Given the description of an element on the screen output the (x, y) to click on. 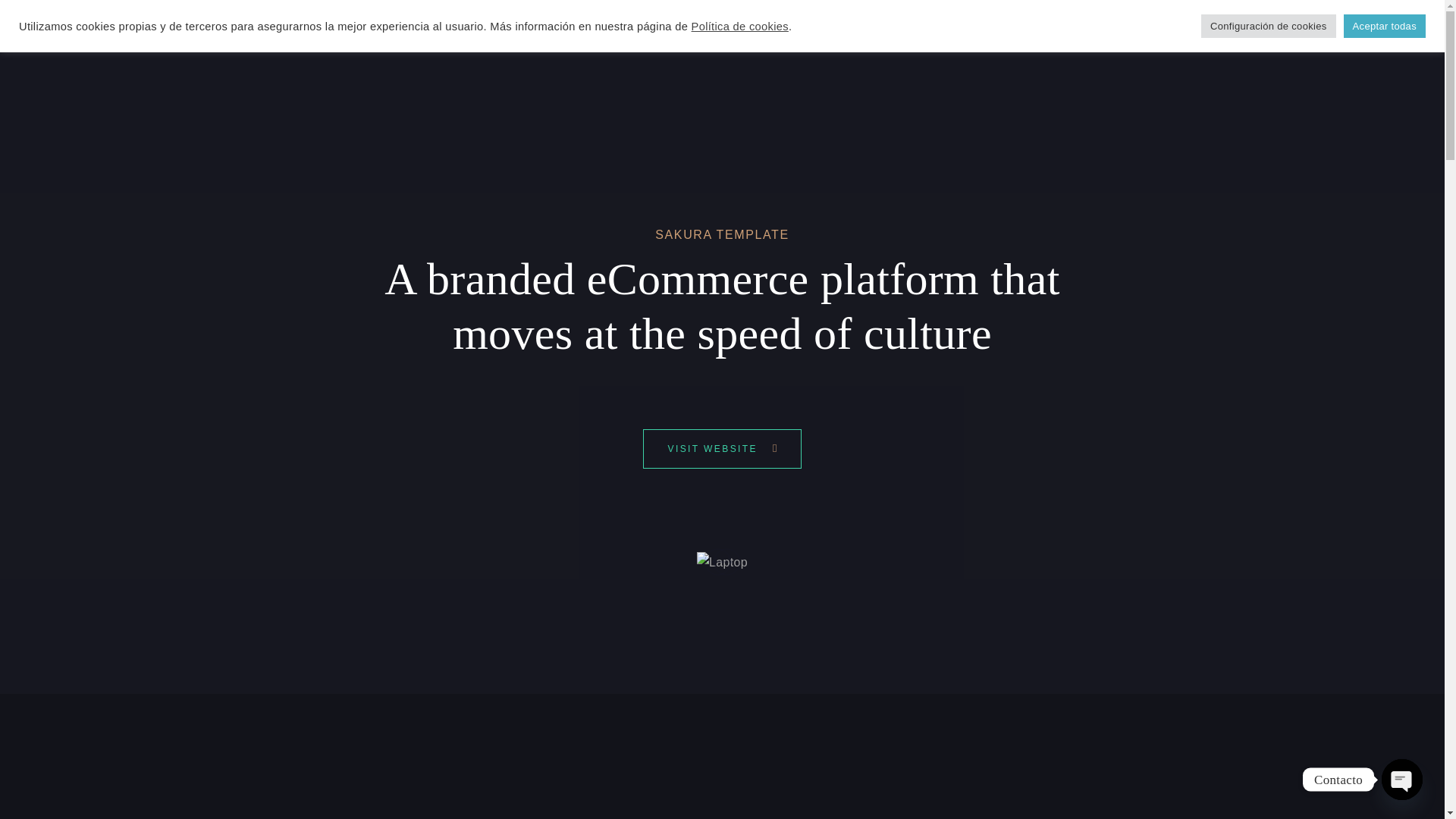
VISIT WEBSITE (722, 449)
